Given the description of an element on the screen output the (x, y) to click on. 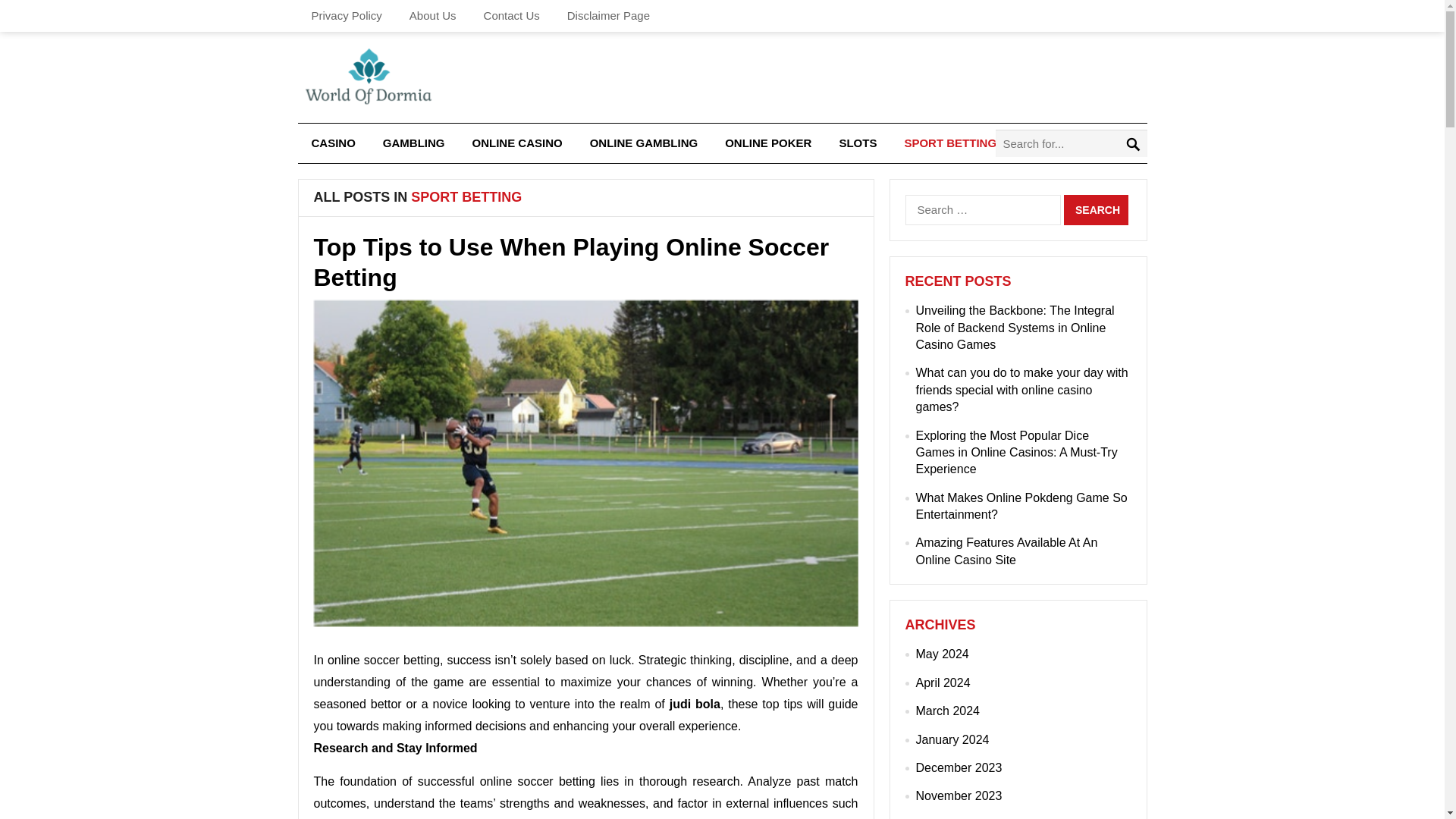
GAMBLING (413, 142)
About Us (433, 15)
ONLINE CASINO (517, 142)
Top Tips to Use When Playing Online Soccer Betting (571, 262)
Search (1096, 209)
ONLINE GAMBLING (643, 142)
ONLINE POKER (768, 142)
Disclaimer Page (608, 15)
SLOTS (857, 142)
judi bola (694, 703)
Privacy Policy (345, 15)
Search (1096, 209)
CASINO (332, 142)
SPORT BETTING (949, 142)
Contact Us (511, 15)
